Given the description of an element on the screen output the (x, y) to click on. 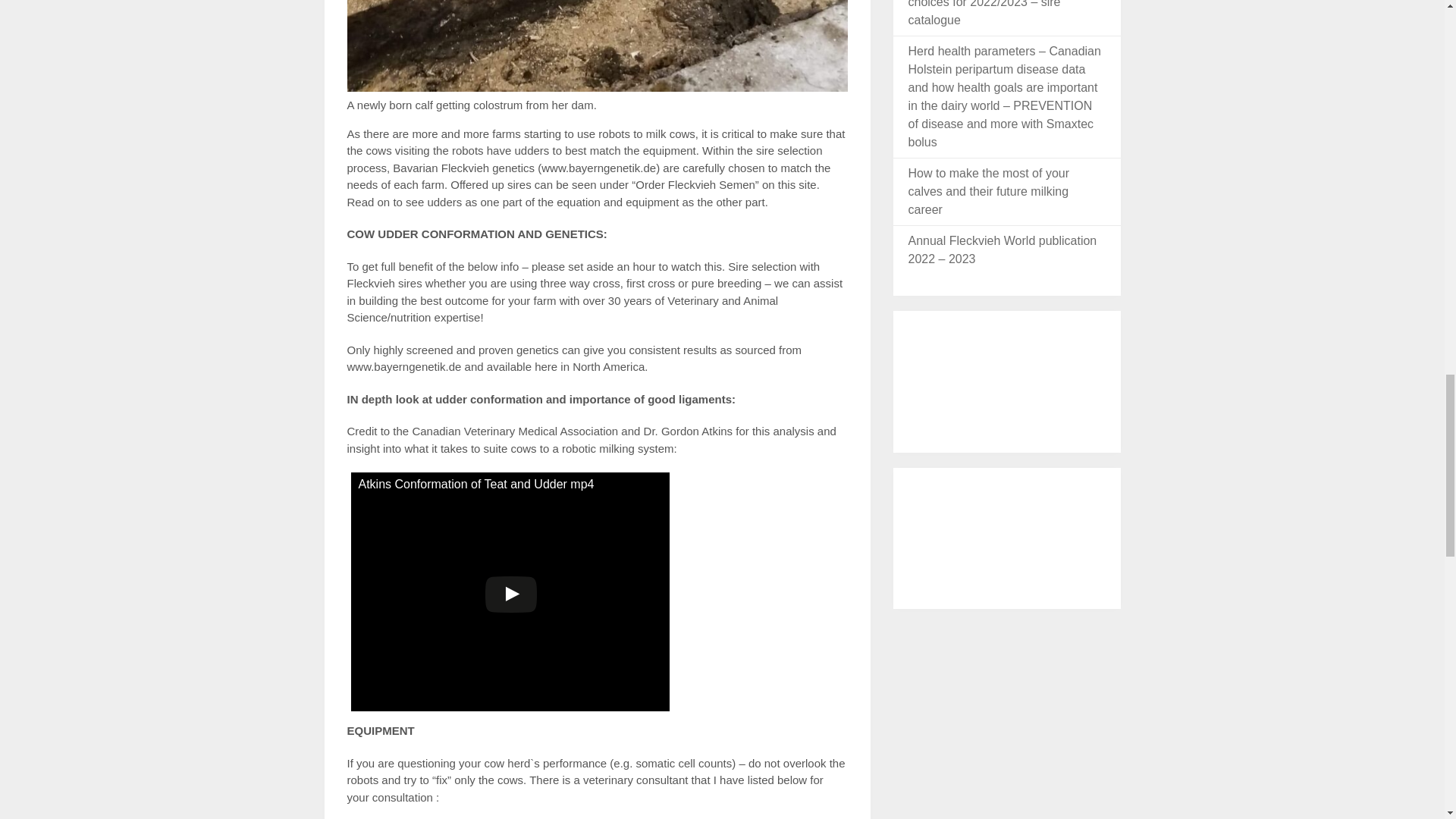
Atkins Conformation of Teat and Udder mp4 (509, 591)
